Given the description of an element on the screen output the (x, y) to click on. 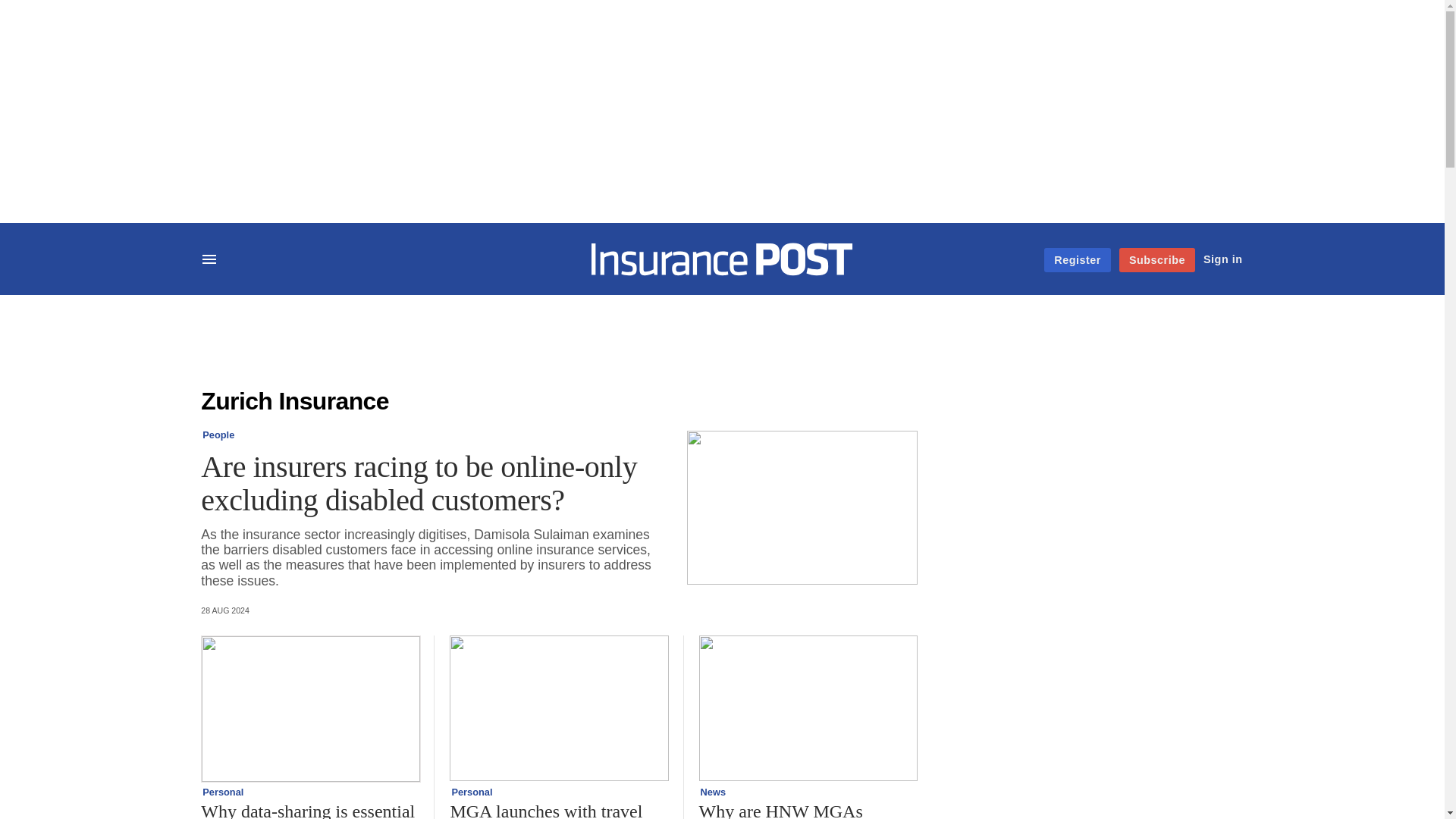
Return to homepage (722, 271)
Open search popup (251, 258)
Open side navigation menu (210, 260)
